Given the description of an element on the screen output the (x, y) to click on. 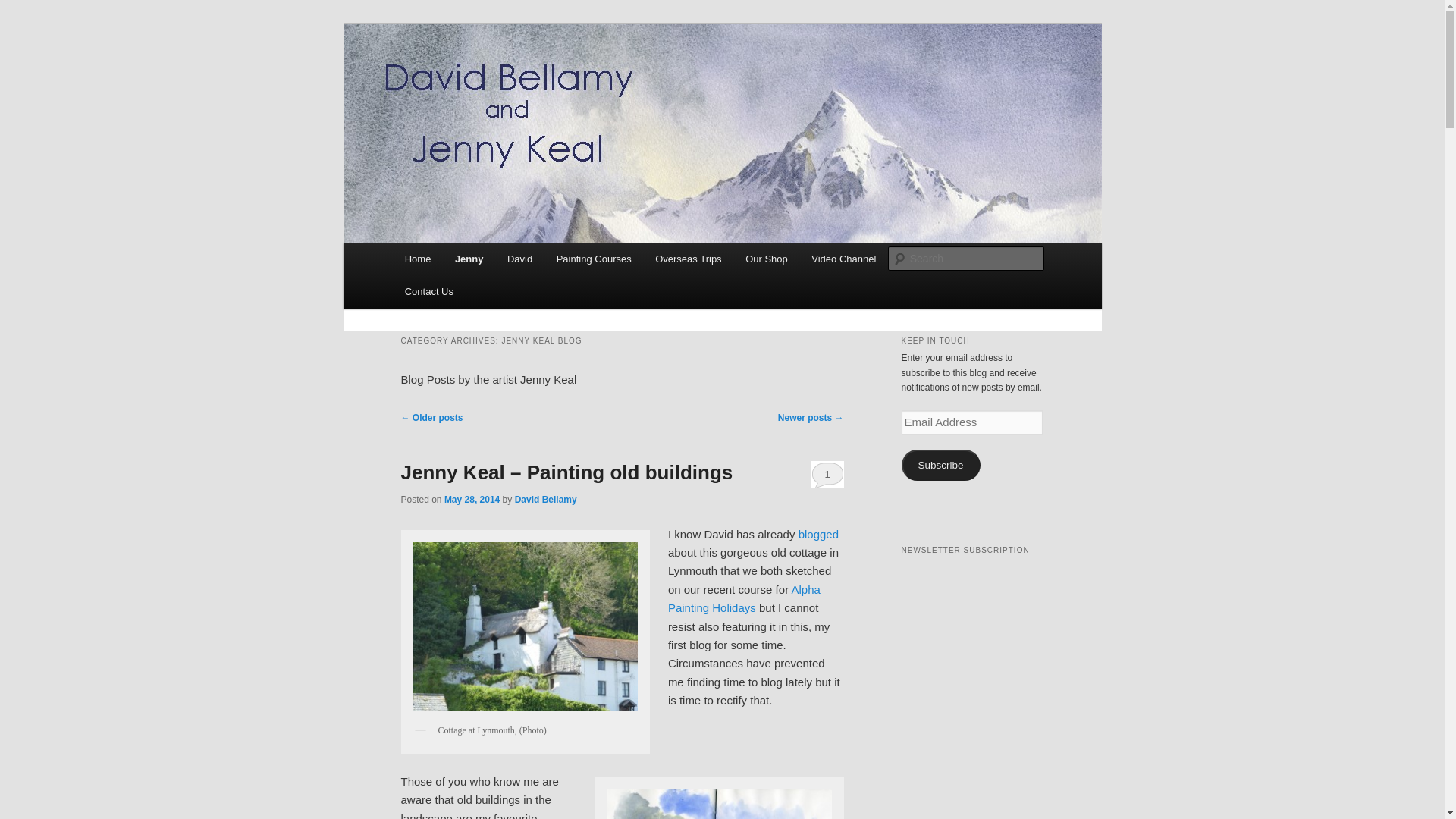
Bellamy's Bivouac (499, 78)
Jenny (468, 258)
Overseas Trips (688, 258)
David (519, 258)
9:50 am (471, 499)
View all posts by David Bellamy (545, 499)
Search (24, 8)
Painting Courses (593, 258)
Home (417, 258)
